Given the description of an element on the screen output the (x, y) to click on. 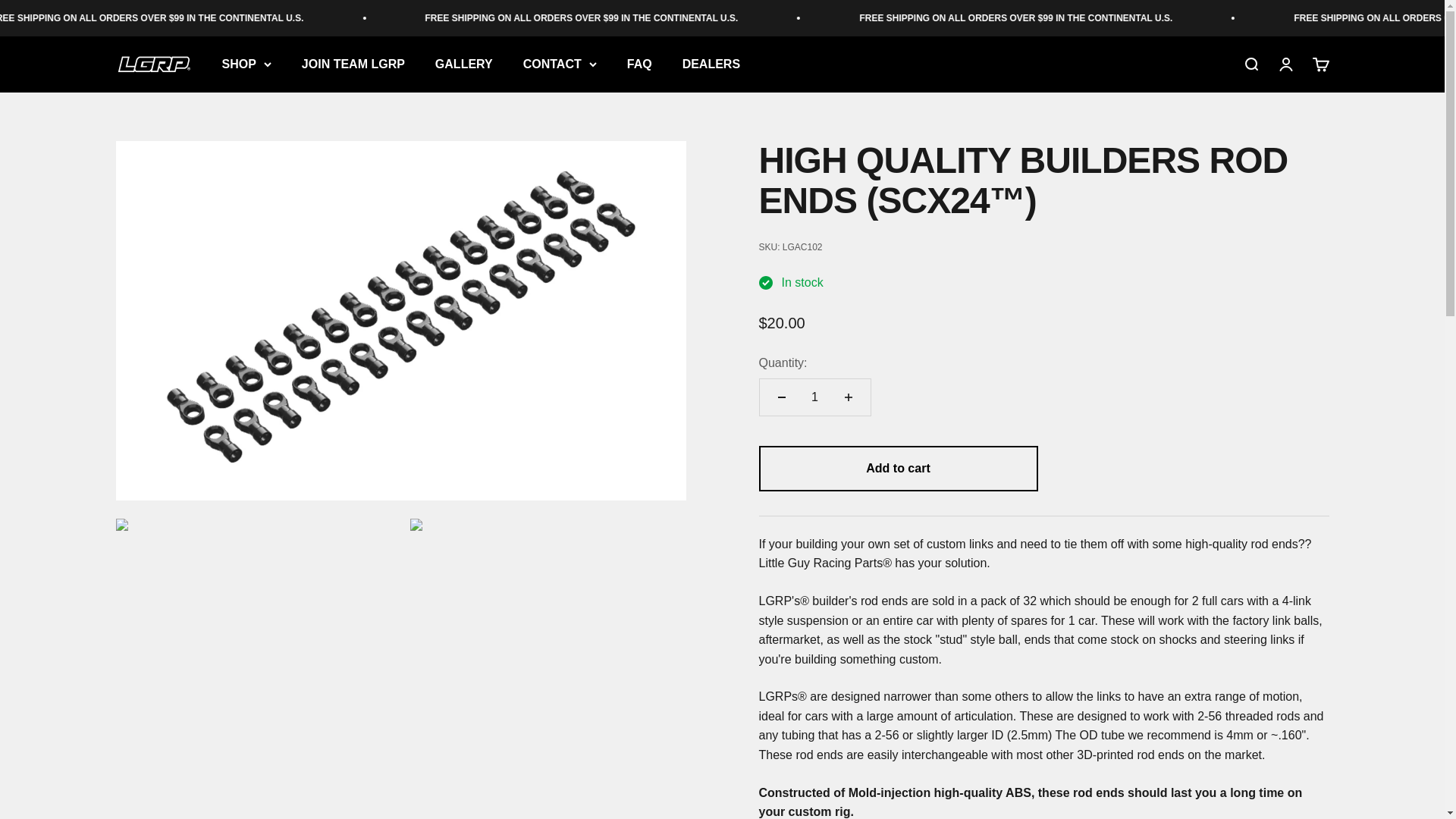
Open search (1250, 64)
Little Guy Racing Parts (152, 64)
DEALERS (710, 63)
Open account page (1285, 64)
JOIN TEAM LGRP (352, 63)
GALLERY (464, 63)
FAQ (639, 63)
